Given the description of an element on the screen output the (x, y) to click on. 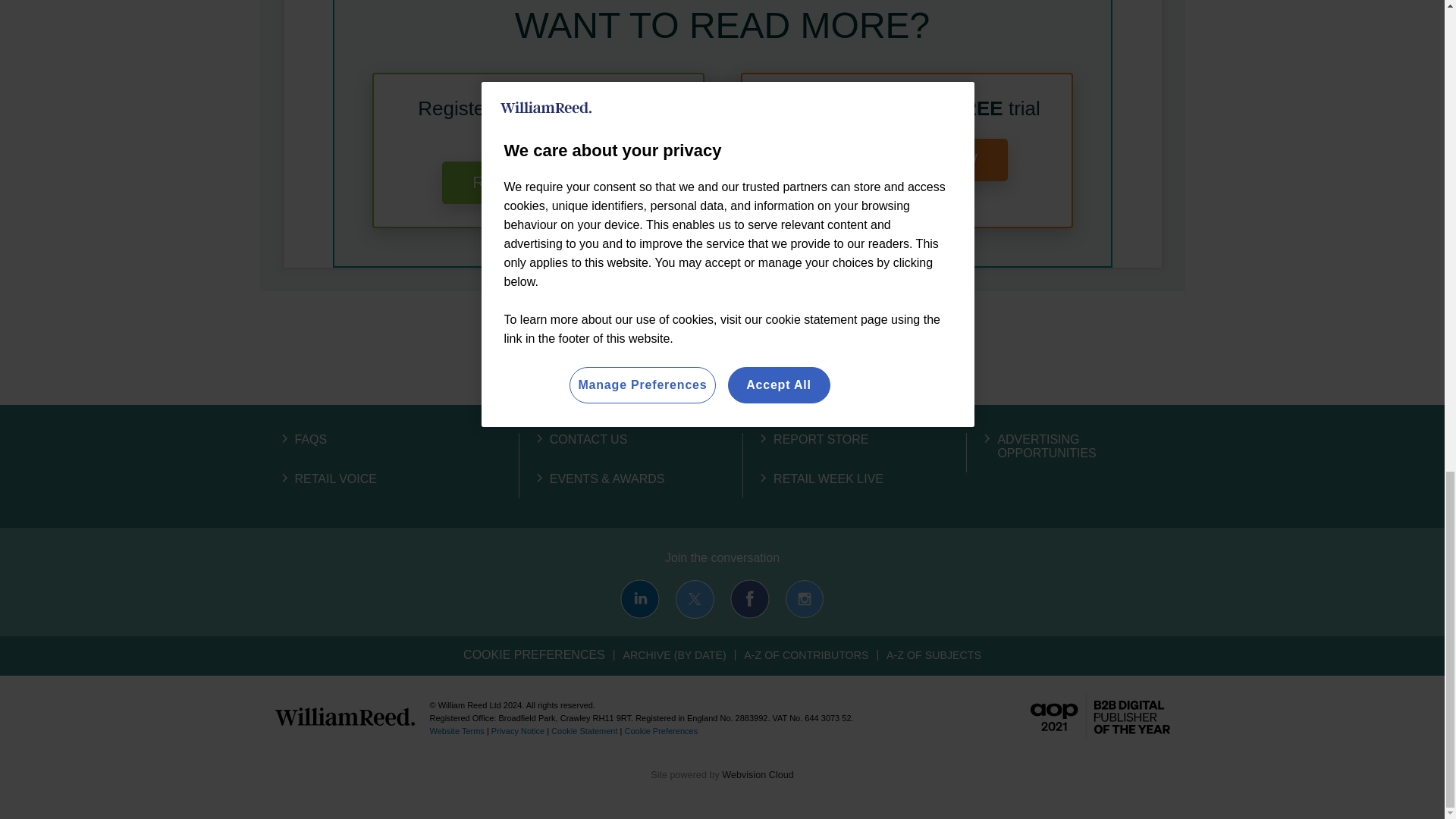
Connect with us on Facebook (750, 599)
Connect with us on X (694, 599)
Connect with us on LinkedIn (639, 599)
Connect with us on Instagram (804, 599)
